Given the description of an element on the screen output the (x, y) to click on. 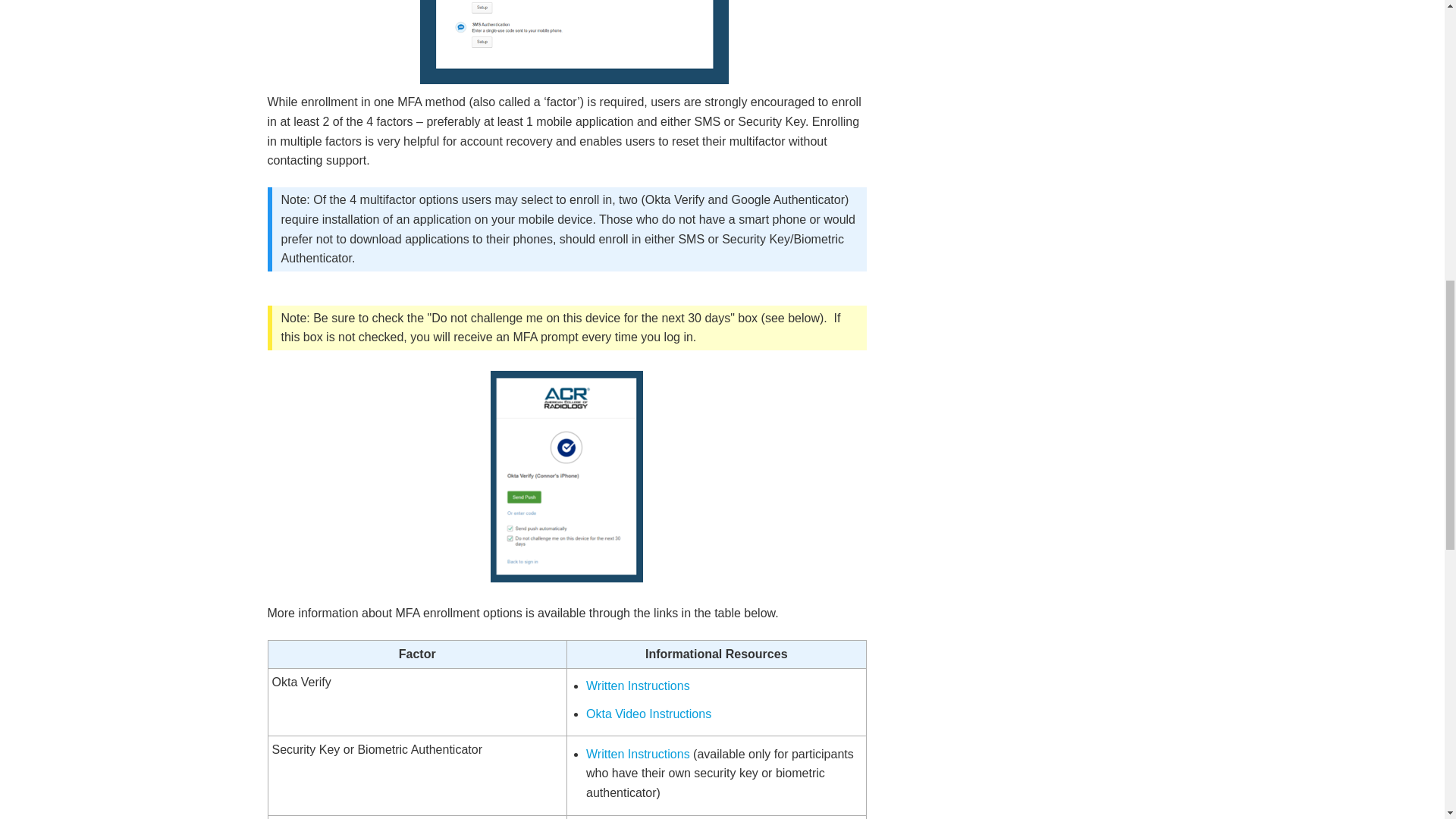
Written Instructions (638, 753)
Okta Video Instructions (648, 713)
Written Instructions (638, 685)
